Given the description of an element on the screen output the (x, y) to click on. 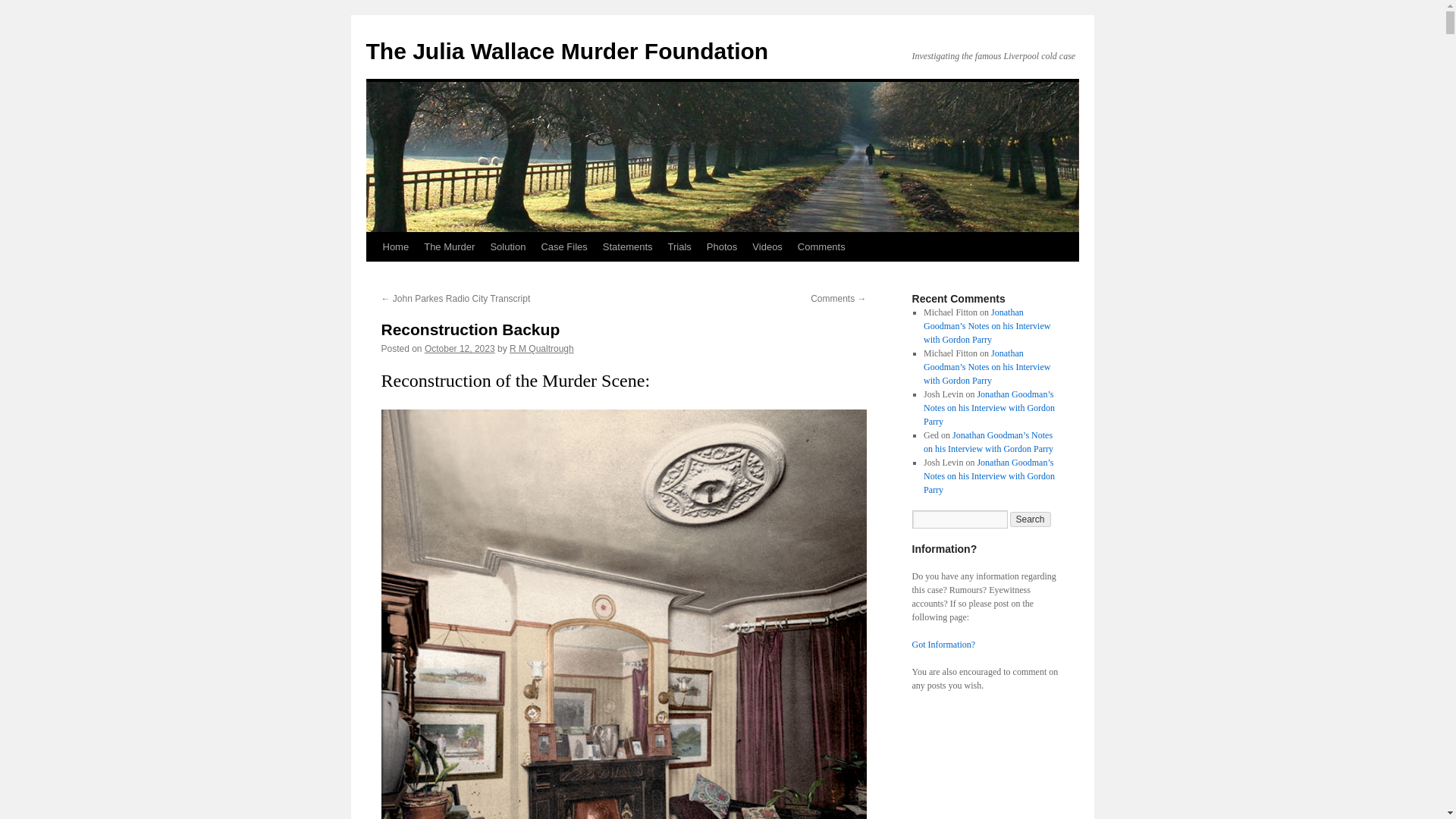
R M Qualtrough (541, 348)
The Julia Wallace Murder Foundation (566, 50)
Comments (821, 246)
Search (1030, 519)
October 12, 2023 (460, 348)
Solution (506, 246)
Photos (721, 246)
4:46 pm (460, 348)
Videos (767, 246)
Case Files (563, 246)
The Murder (448, 246)
Home (395, 246)
Statements (628, 246)
Trials (679, 246)
View all posts by R M Qualtrough (541, 348)
